Given the description of an element on the screen output the (x, y) to click on. 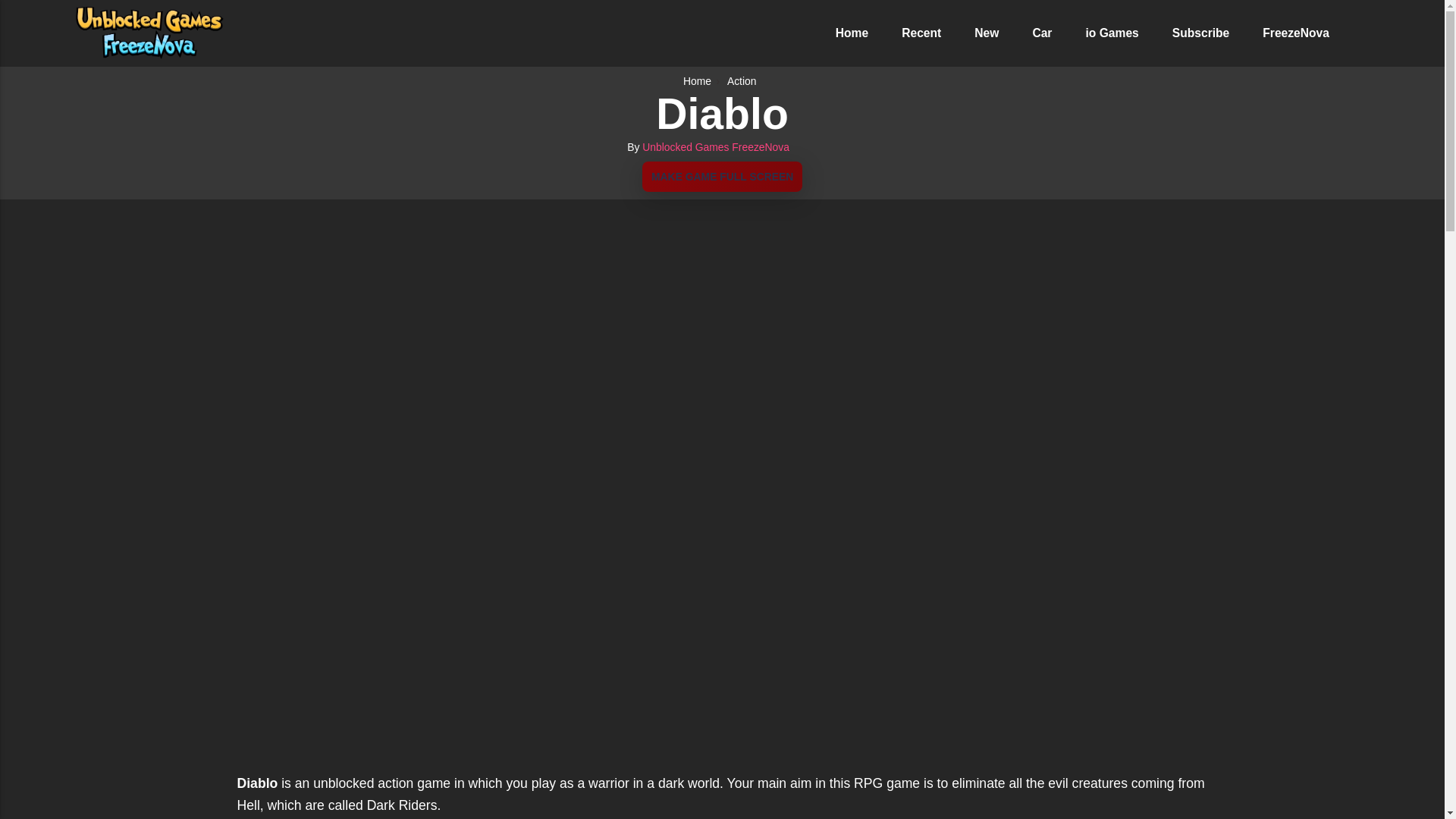
Action (743, 80)
Recent (921, 32)
Action (743, 80)
Unblocked Games FreezeNova (715, 146)
io Games (1112, 32)
Home (852, 32)
Car (1042, 32)
Home (699, 80)
New (985, 32)
Subscribe (1200, 32)
FreezeNova (1295, 32)
Unblocked Games FreezeNova (715, 146)
MAKE GAME FULL SCREEN (722, 176)
